Given the description of an element on the screen output the (x, y) to click on. 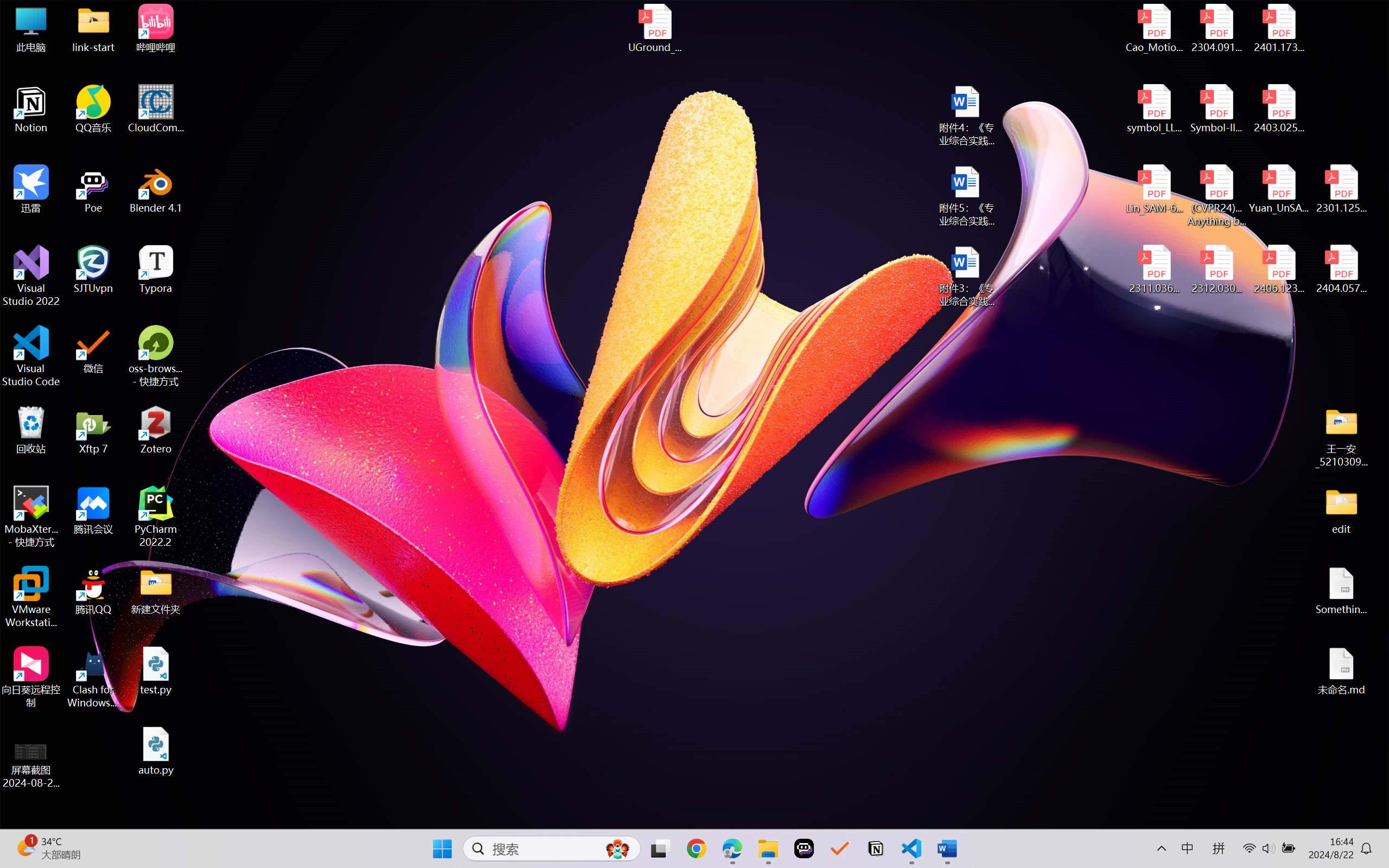
2401.17399v1.pdf (1278, 28)
VMware Workstation Pro (31, 597)
test.py (156, 670)
2403.02502v1.pdf (1278, 109)
PyCharm 2022.2 (156, 516)
SJTUvpn (93, 269)
2312.03032v2.pdf (1216, 269)
